Given the description of an element on the screen output the (x, y) to click on. 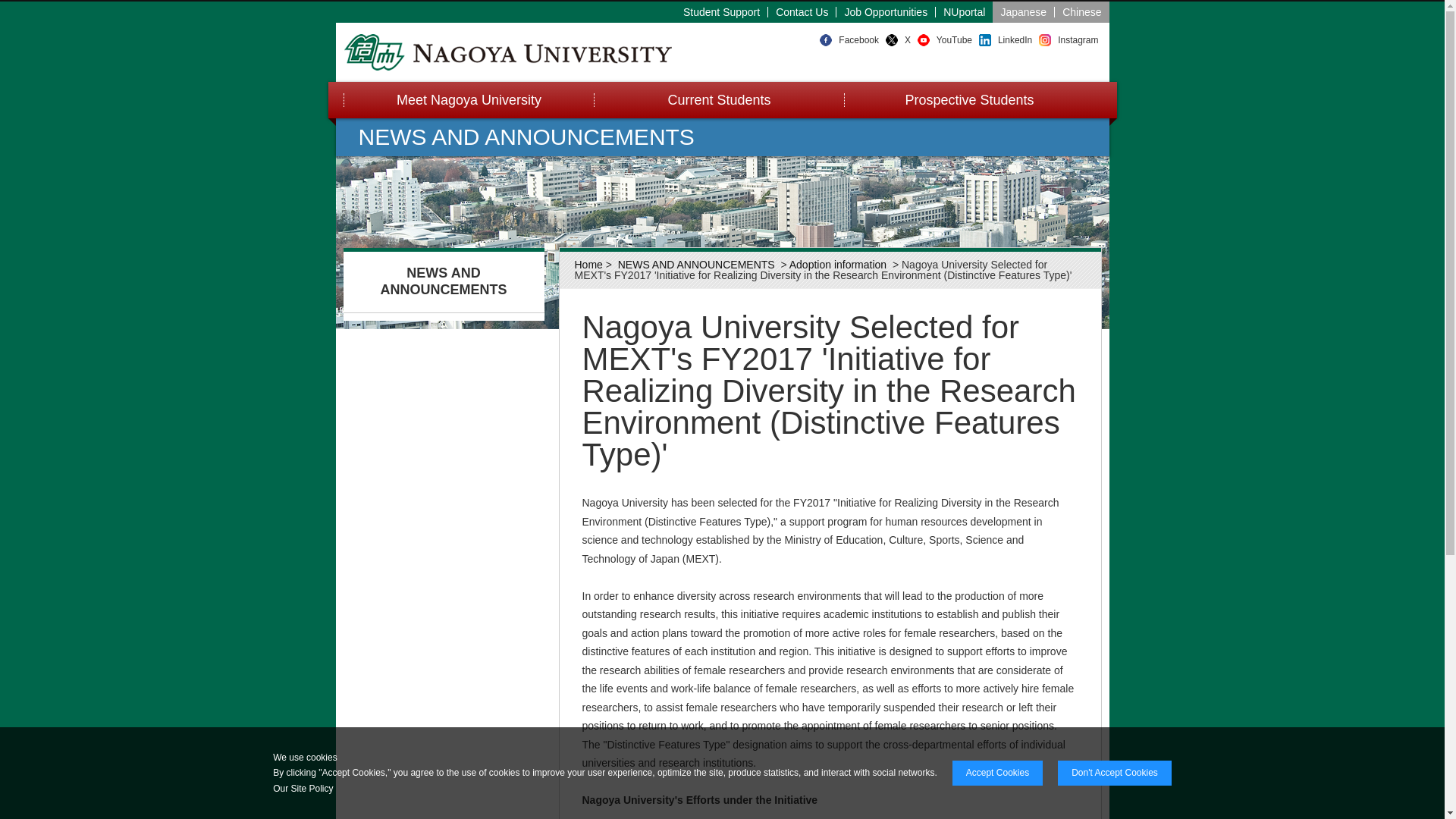
Japanese (1023, 11)
Meet Nagoya University (467, 99)
Instagram (1077, 40)
Student Support (721, 11)
Contact Us (801, 11)
YouTube (954, 40)
Facebook (858, 40)
Current Students (717, 99)
NUportal (964, 11)
Chinese (1081, 11)
Prospective Students (968, 99)
LinkedIn (1014, 40)
Home (588, 264)
Job Opportunities (885, 11)
